Given the description of an element on the screen output the (x, y) to click on. 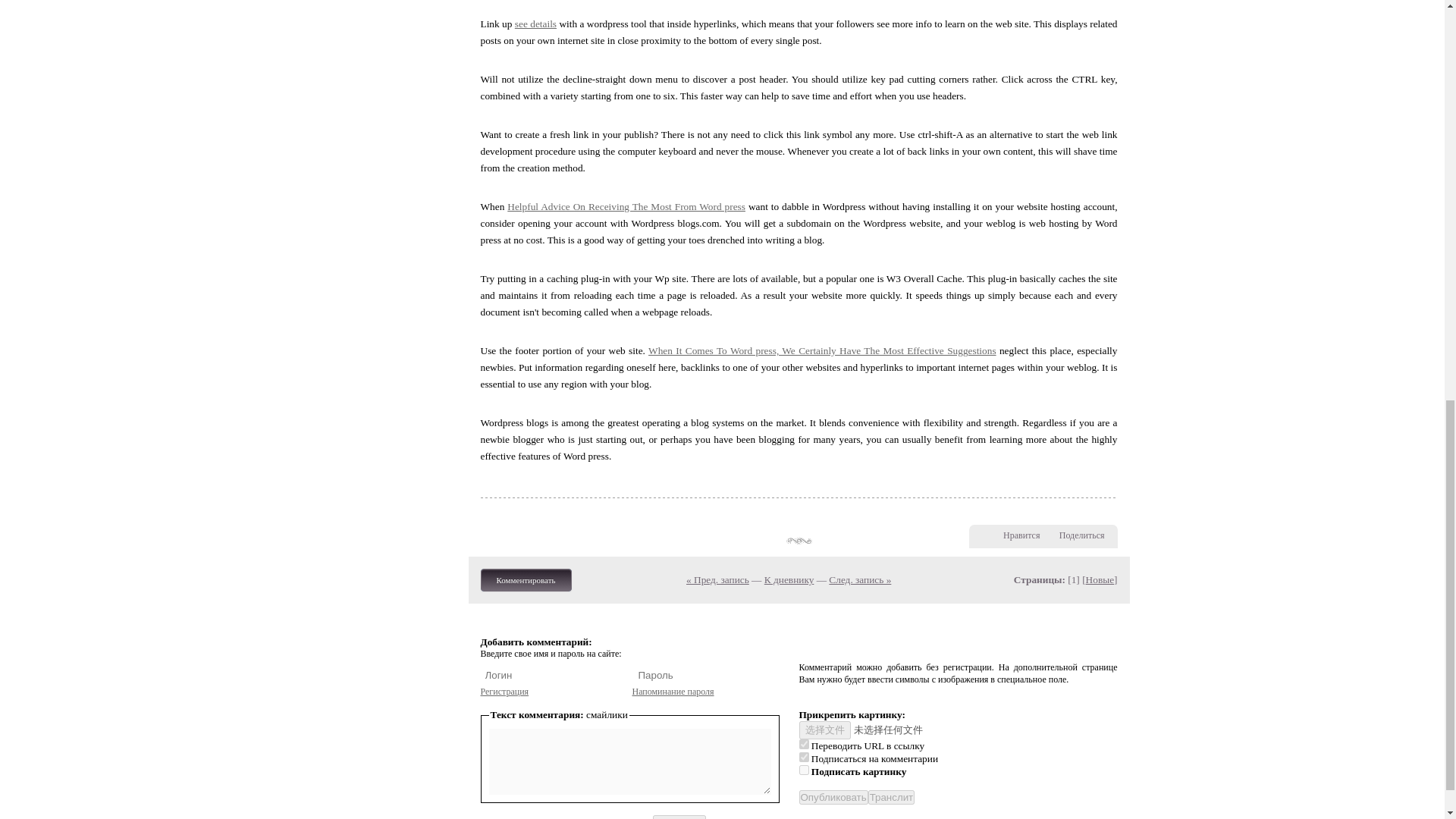
1 (804, 769)
yes (804, 757)
yes (804, 744)
